Given the description of an element on the screen output the (x, y) to click on. 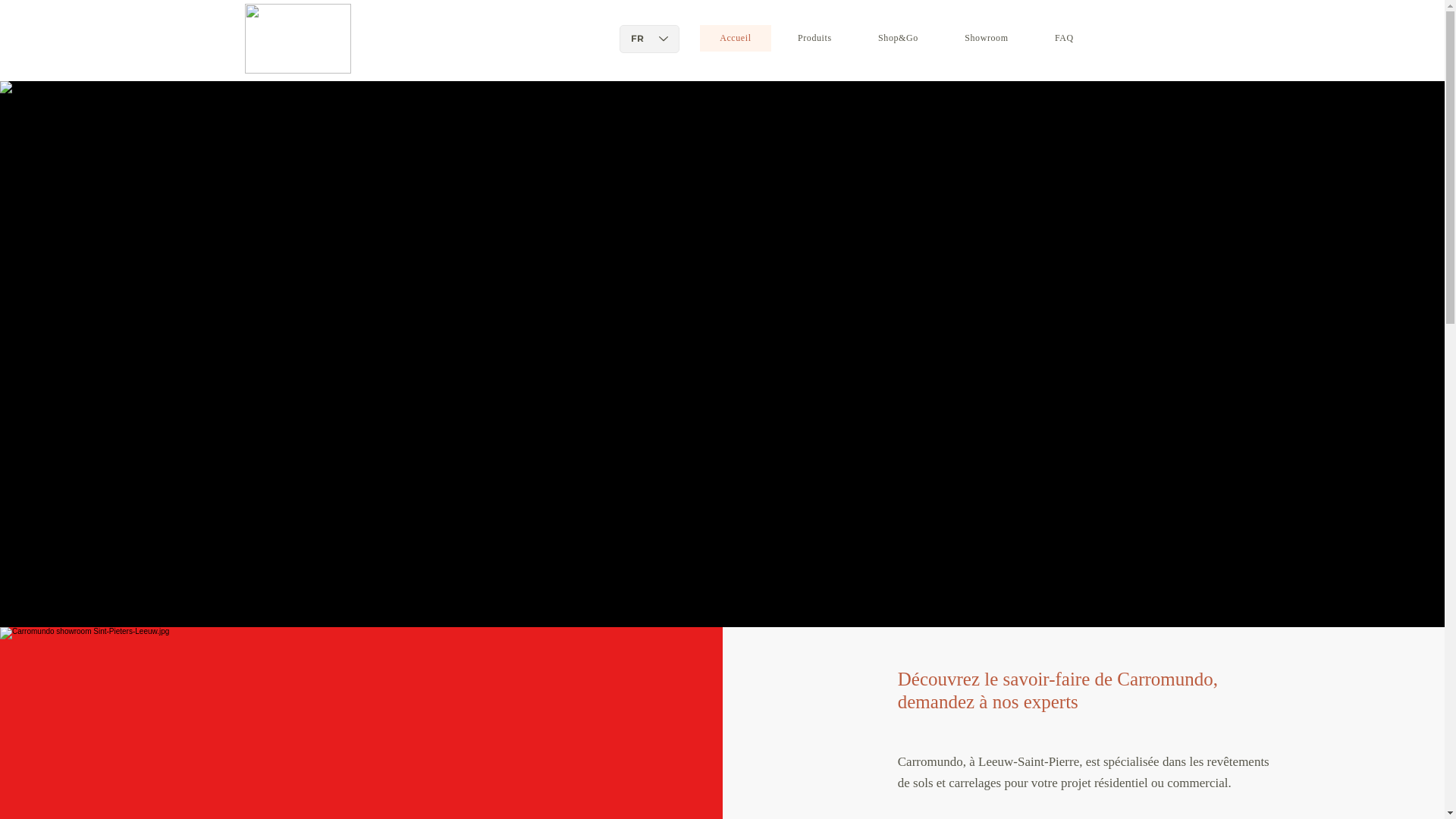
FAQ Element type: text (1063, 38)
Showroom Element type: text (986, 38)
Accueil Element type: text (735, 38)
Shop&Go Element type: text (897, 38)
logo.png Element type: hover (297, 38)
Produits Element type: text (814, 38)
